Given the description of an element on the screen output the (x, y) to click on. 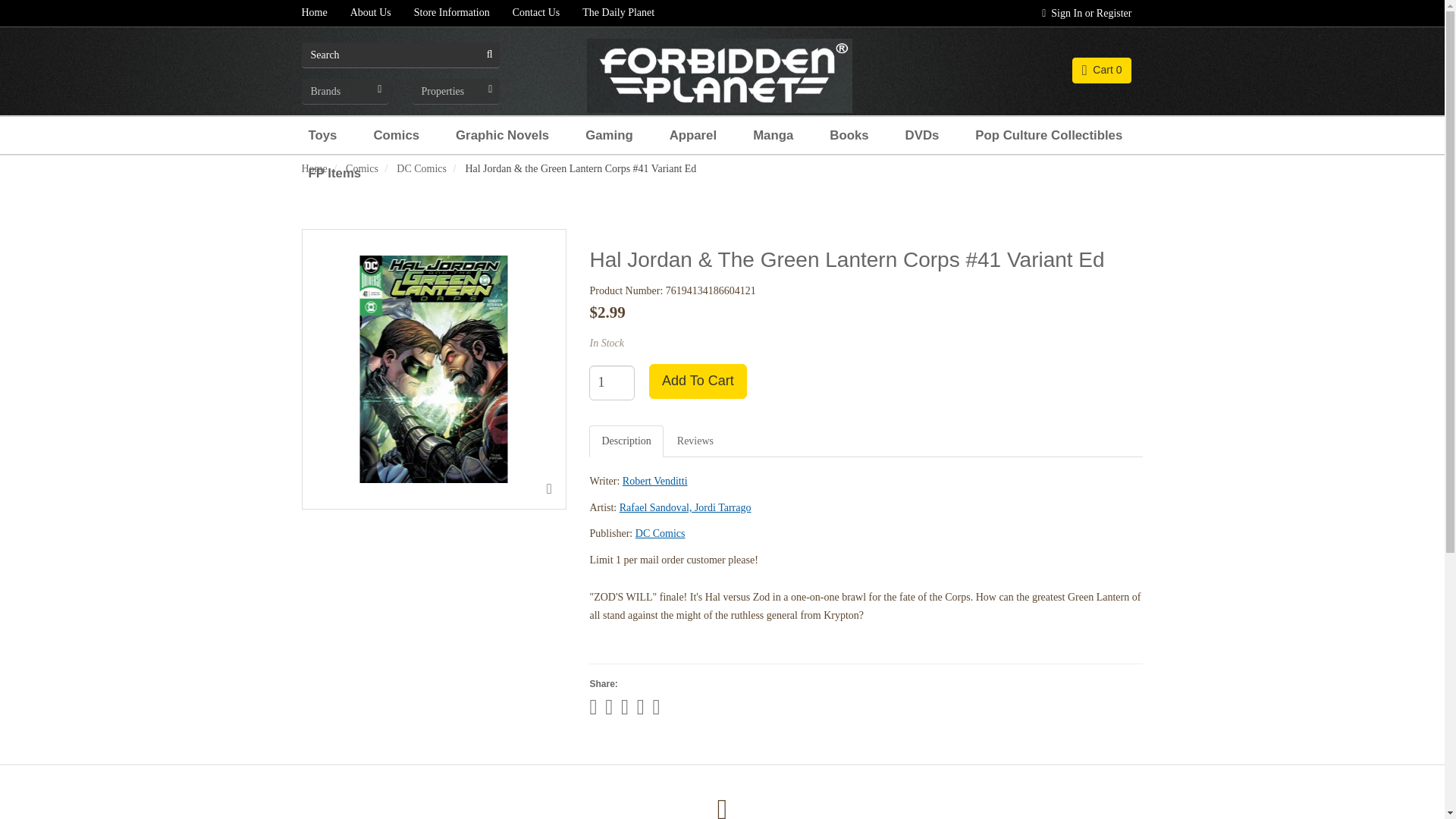
1 (611, 382)
About Us (371, 13)
Store Information (451, 13)
The Daily Planet (617, 13)
  Sign In or Register (1086, 13)
Contact Us (536, 13)
  Cart 0 (1101, 70)
Home (313, 13)
